Given the description of an element on the screen output the (x, y) to click on. 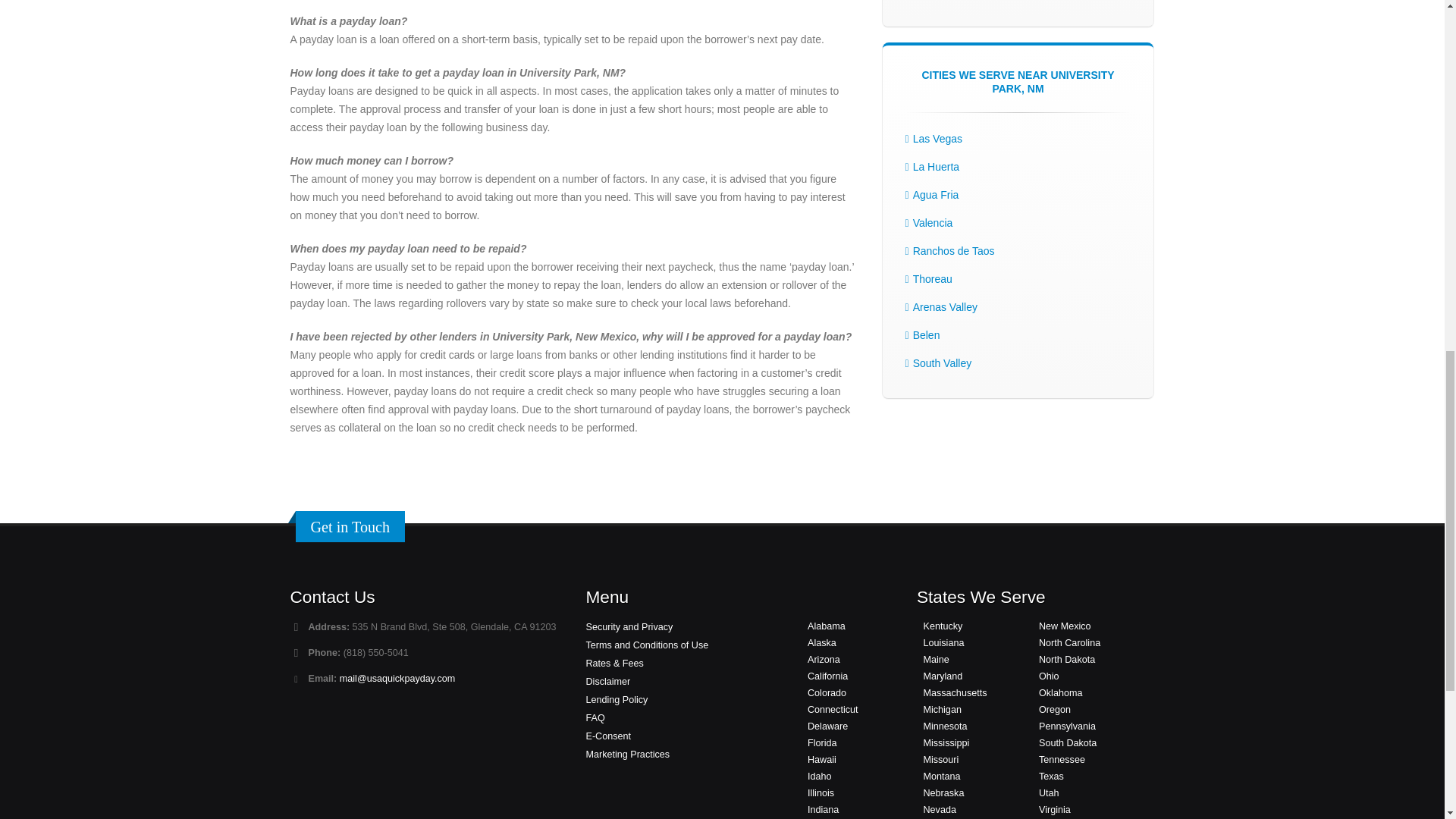
Thoreau (932, 278)
Hawaii (821, 759)
FAQ (594, 717)
Terms and Conditions of Use (646, 644)
Valencia (932, 223)
Alabama (826, 625)
Alaska (821, 643)
Belen (926, 335)
Colorado (826, 692)
Florida (822, 742)
Connecticut (833, 709)
Agua Fria (935, 194)
Ranchos de Taos (953, 250)
Illinois (821, 792)
Security and Privacy (628, 626)
